Given the description of an element on the screen output the (x, y) to click on. 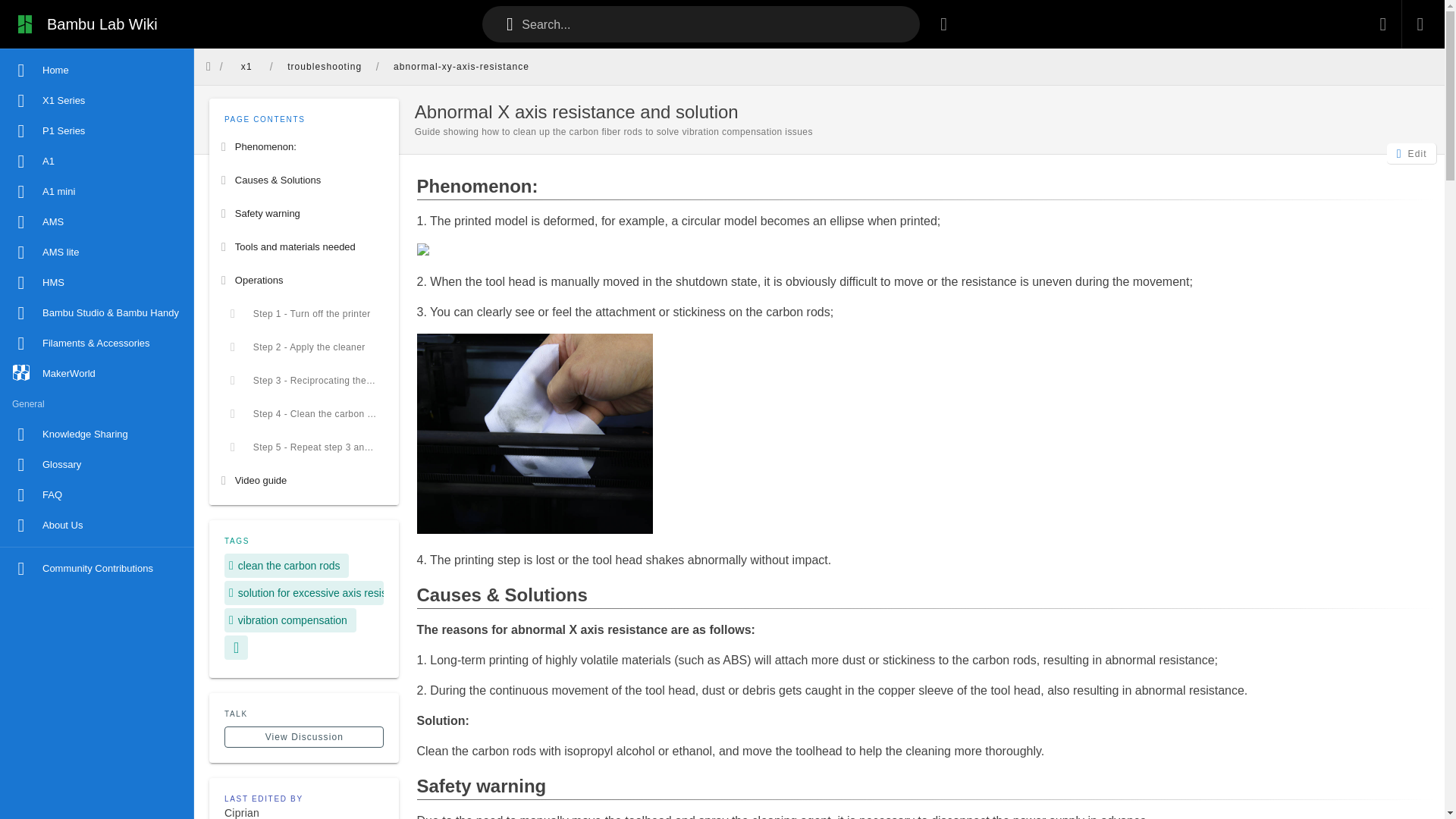
MakerWorld (96, 373)
x1 (245, 66)
FAQ (96, 494)
P1 Series (96, 131)
vibration compensation (290, 620)
HMS (96, 282)
About Us (96, 525)
Knowledge Sharing (96, 434)
abnormal-xy-axis-resistance (461, 66)
AMS lite (96, 252)
